Given the description of an element on the screen output the (x, y) to click on. 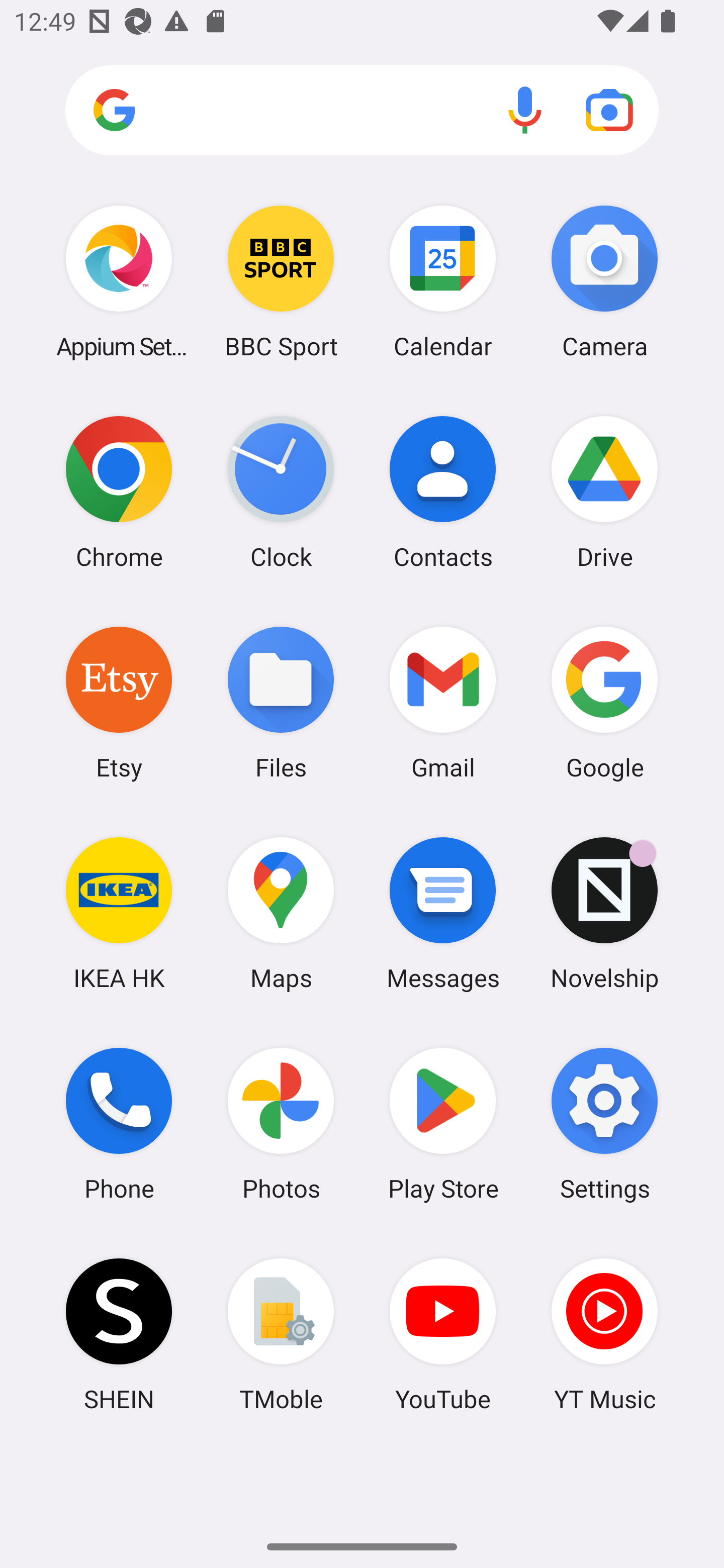
Search apps, web and more (361, 110)
Voice search (524, 109)
Google Lens (608, 109)
Appium Settings (118, 281)
BBC Sport (280, 281)
Calendar (443, 281)
Camera (604, 281)
Chrome (118, 492)
Clock (280, 492)
Contacts (443, 492)
Drive (604, 492)
Etsy (118, 702)
Files (280, 702)
Gmail (443, 702)
Google (604, 702)
IKEA HK (118, 913)
Maps (280, 913)
Messages (443, 913)
Novelship Novelship has 7 notifications (604, 913)
Phone (118, 1124)
Photos (280, 1124)
Play Store (443, 1124)
Settings (604, 1124)
SHEIN (118, 1334)
TMoble (280, 1334)
YouTube (443, 1334)
YT Music (604, 1334)
